Given the description of an element on the screen output the (x, y) to click on. 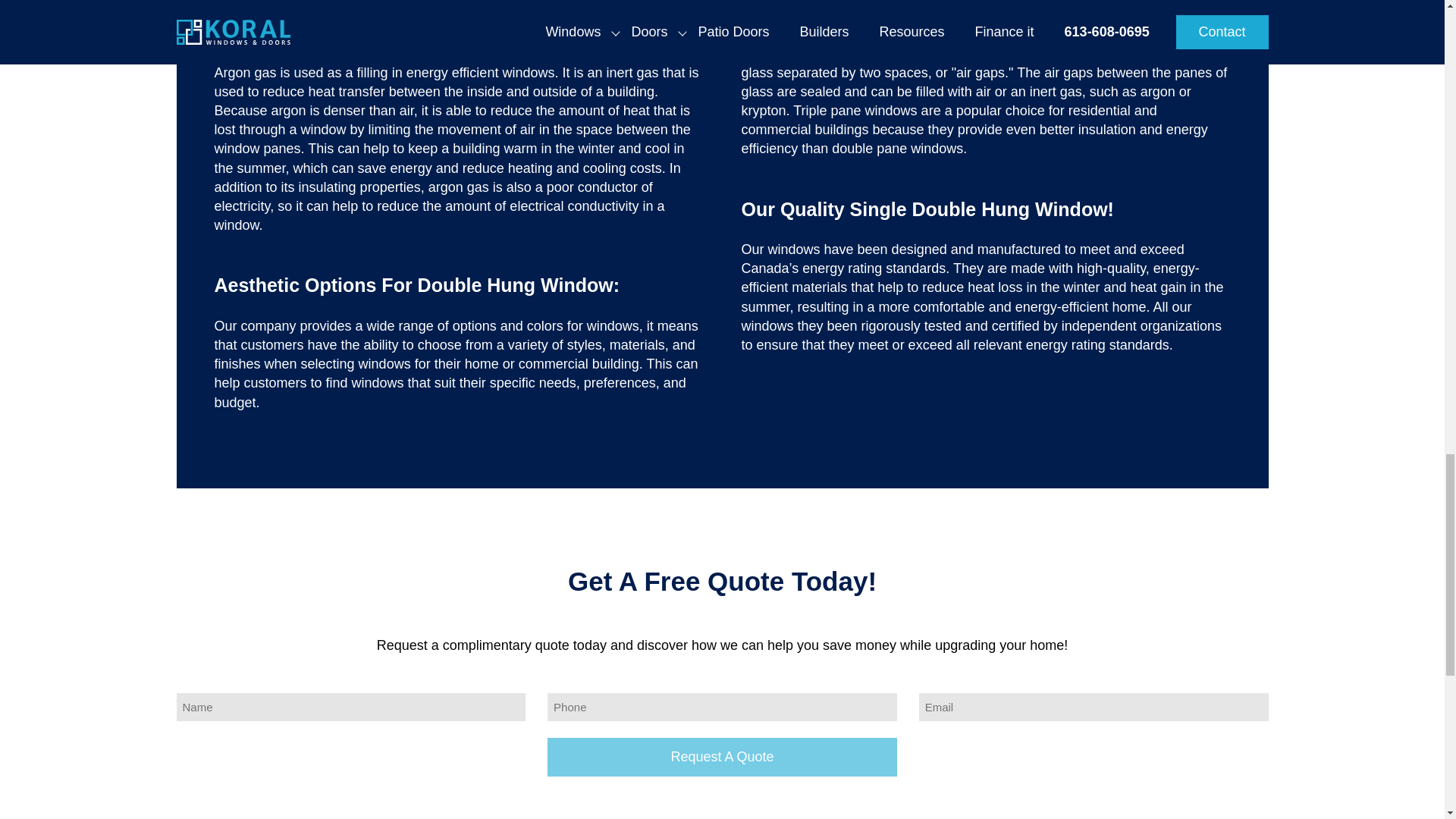
Request A Quote (721, 756)
